Given the description of an element on the screen output the (x, y) to click on. 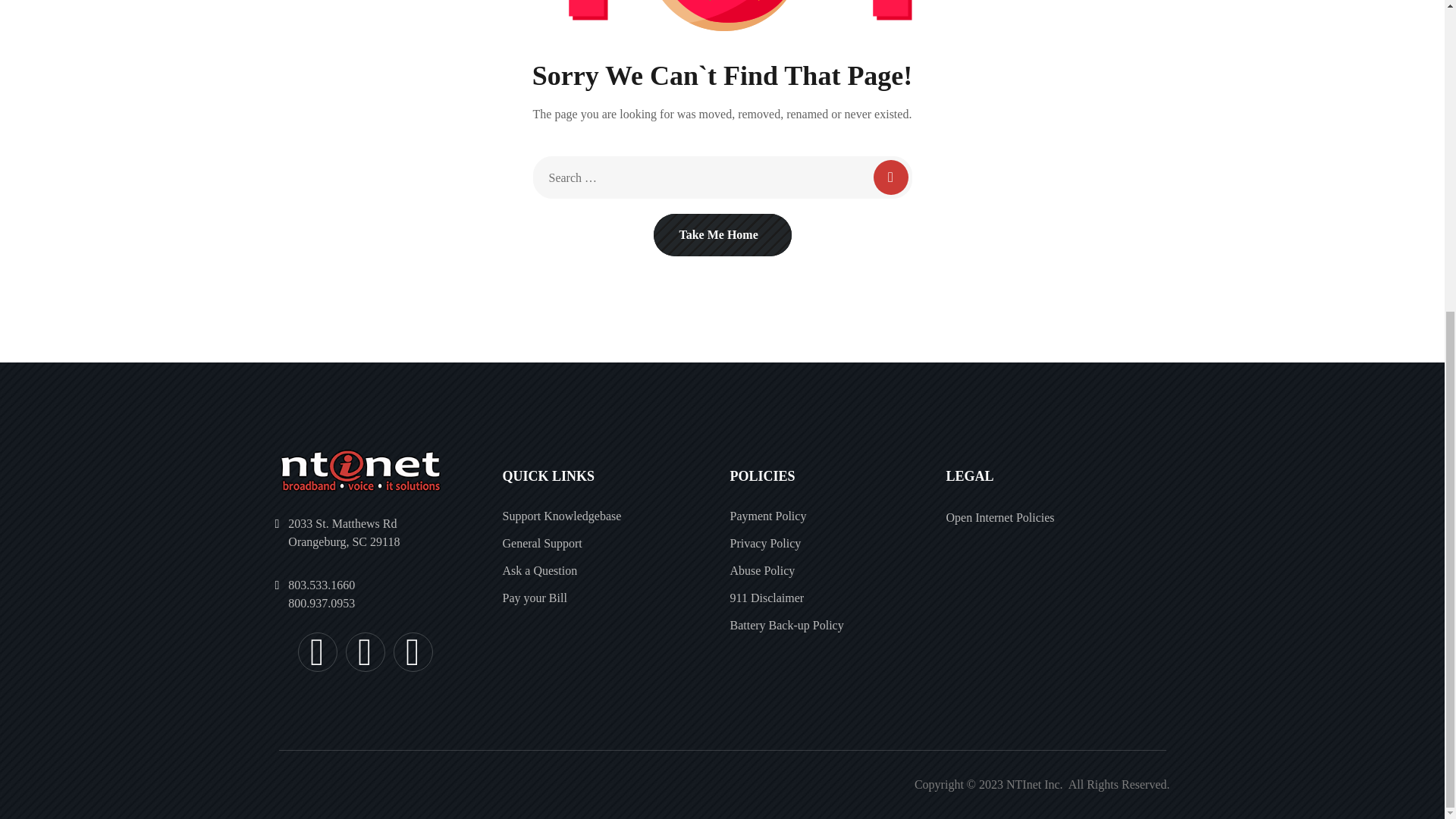
Facebook (316, 651)
Instagram (365, 651)
